Given the description of an element on the screen output the (x, y) to click on. 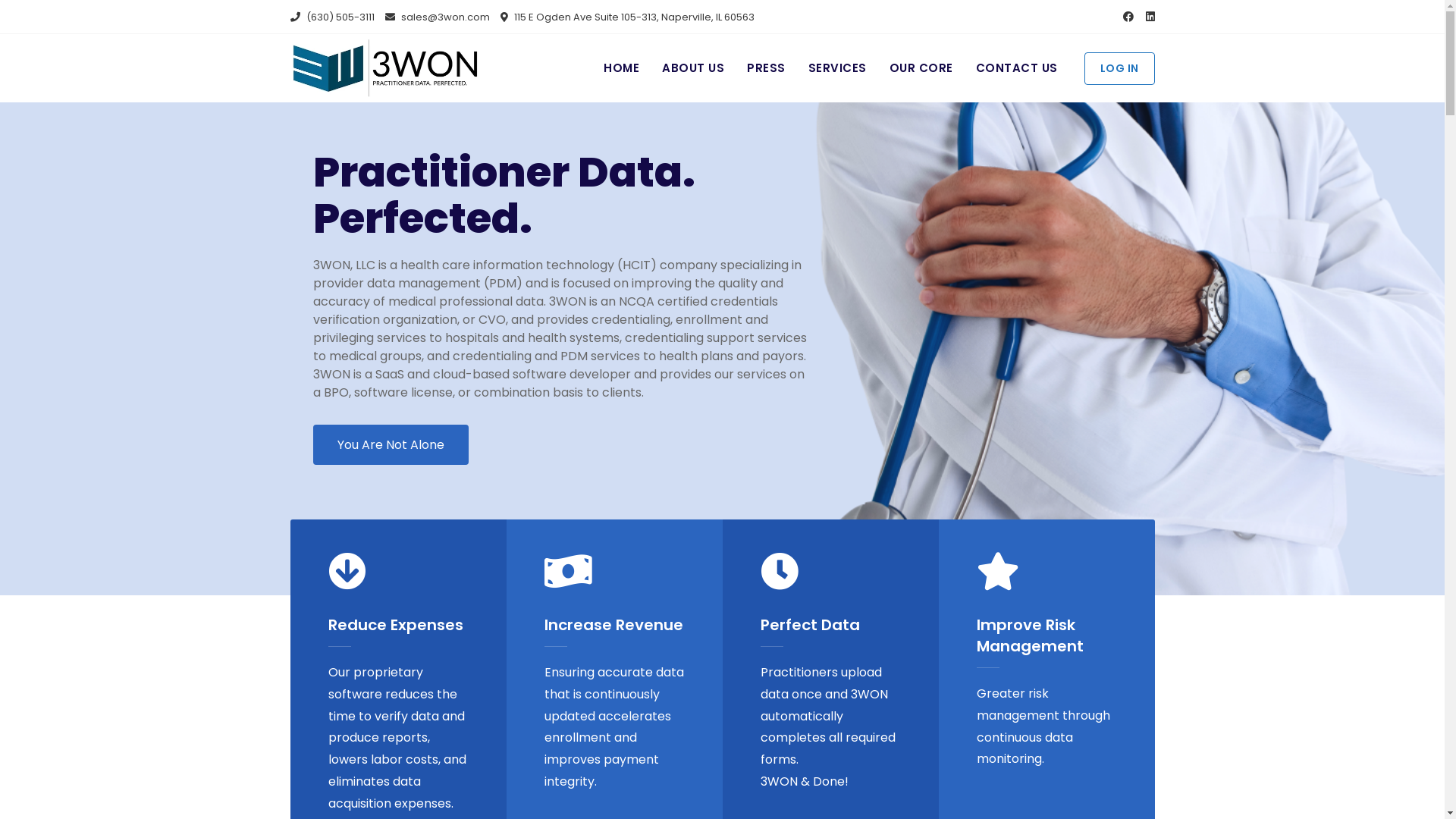
(630) 505-3111 Element type: text (331, 16)
SERVICES Element type: text (836, 68)
sales@3won.com Element type: text (437, 16)
You Are Not Alone Element type: text (389, 444)
ABOUT US Element type: text (692, 68)
HOME Element type: text (626, 68)
CONTACT US Element type: text (1016, 68)
PRESS Element type: text (766, 68)
OUR CORE Element type: text (921, 68)
LOG IN Element type: text (1119, 67)
